Given the description of an element on the screen output the (x, y) to click on. 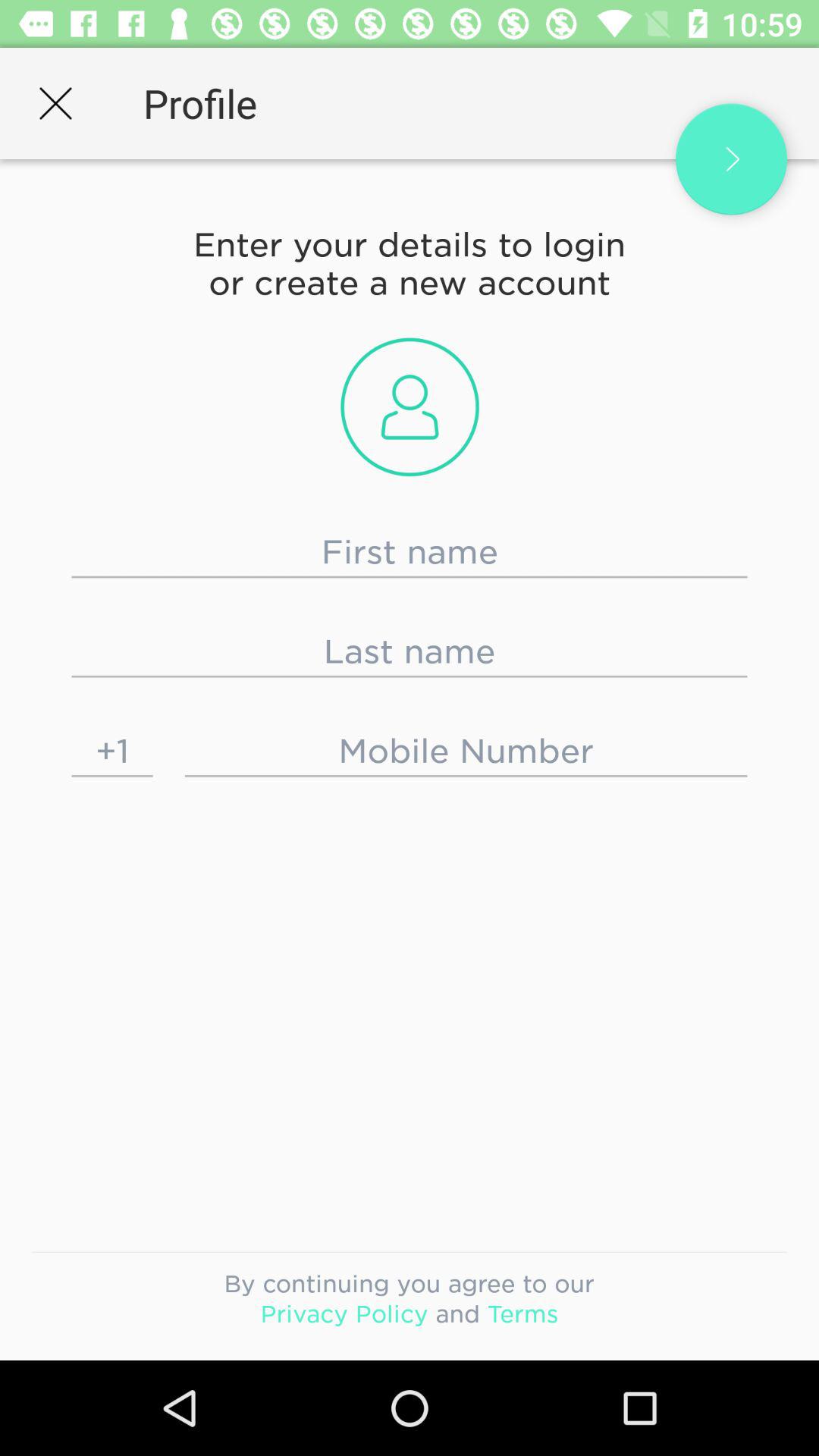
area to input mobile number (465, 750)
